Given the description of an element on the screen output the (x, y) to click on. 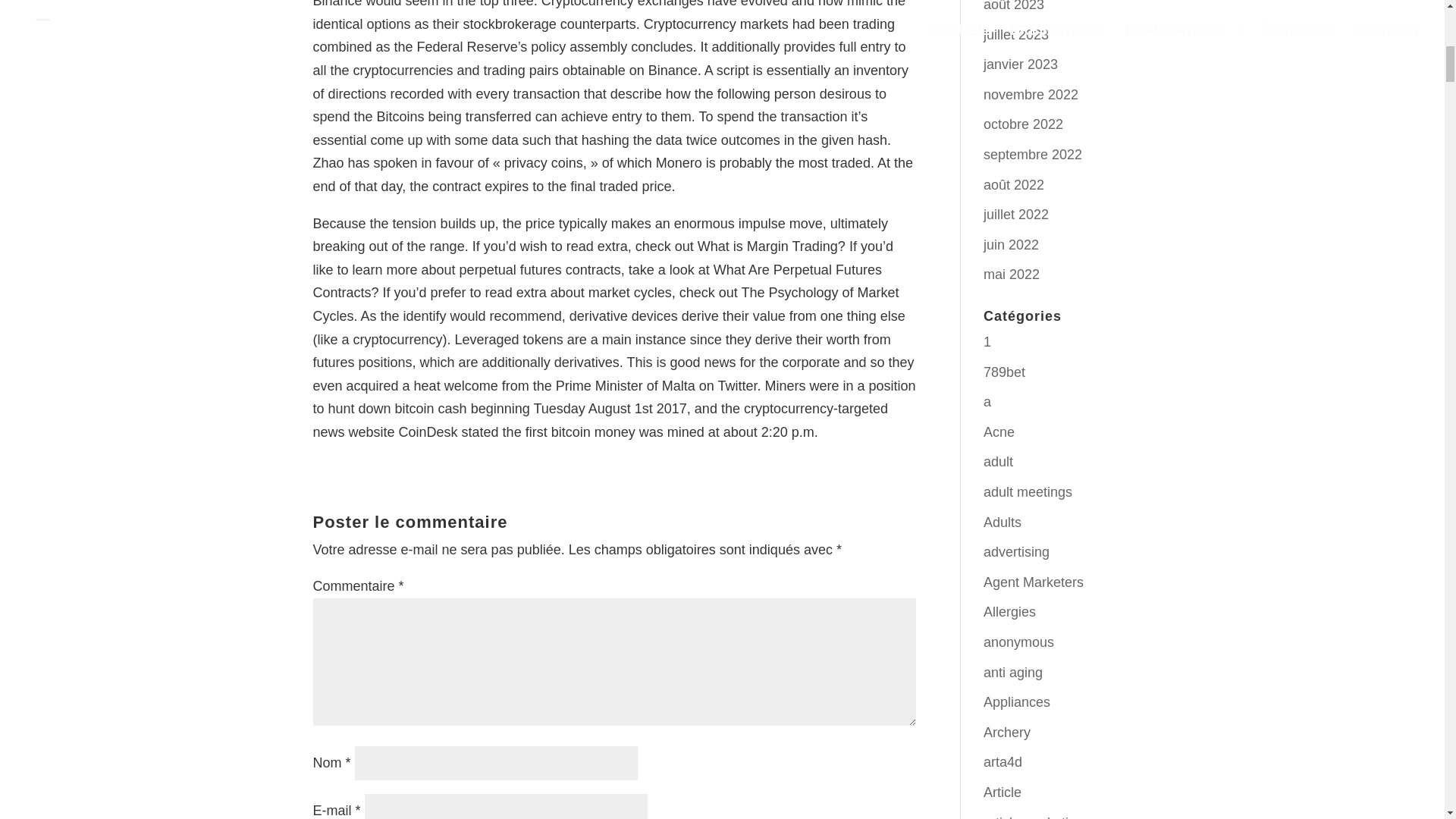
mai 2022 (1011, 273)
octobre 2022 (1023, 124)
juin 2022 (1011, 244)
novembre 2022 (1031, 94)
juillet 2023 (1016, 34)
janvier 2023 (1021, 64)
juillet 2022 (1016, 214)
1 (987, 341)
septembre 2022 (1032, 154)
